Given the description of an element on the screen output the (x, y) to click on. 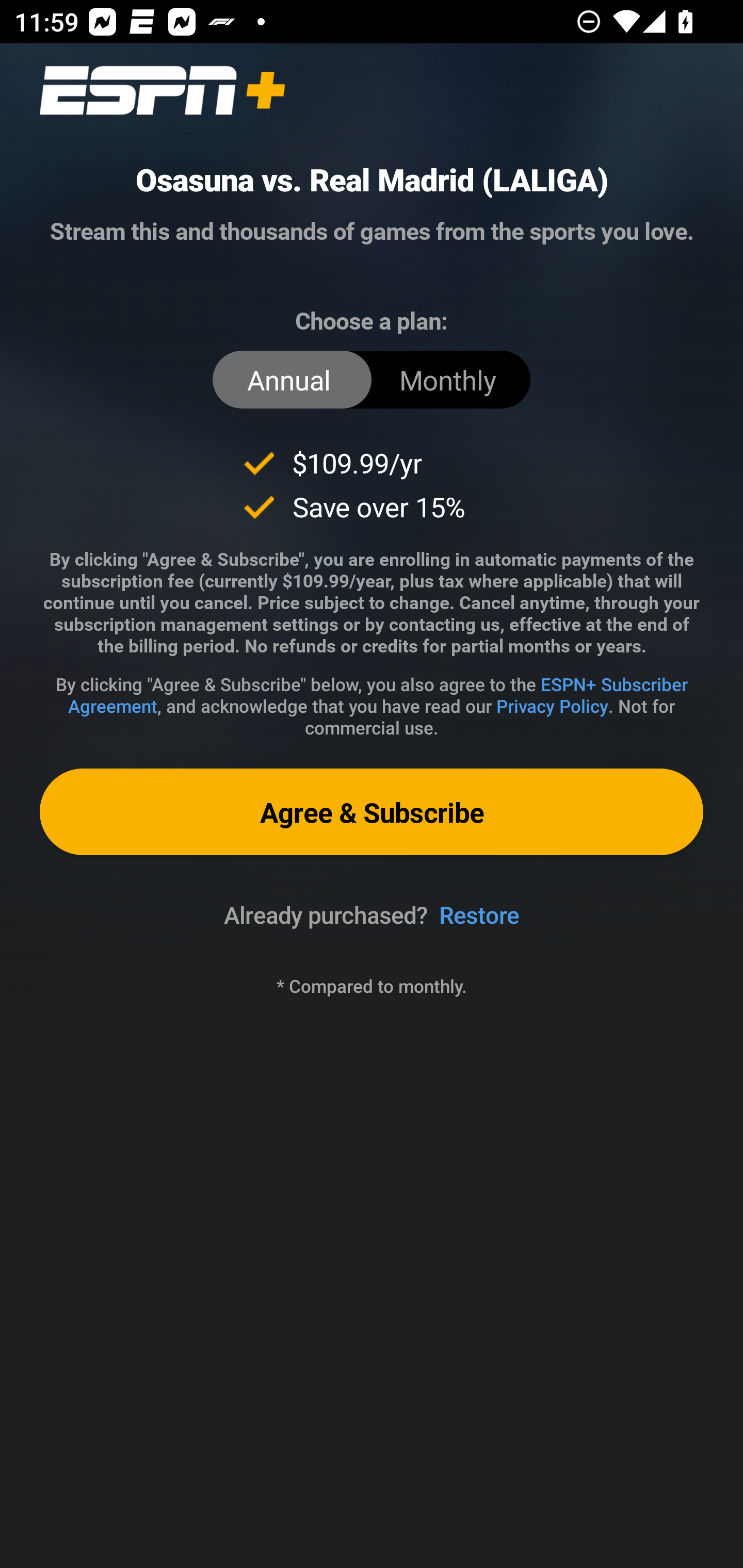
Agree & Subscribe (371, 811)
